Given the description of an element on the screen output the (x, y) to click on. 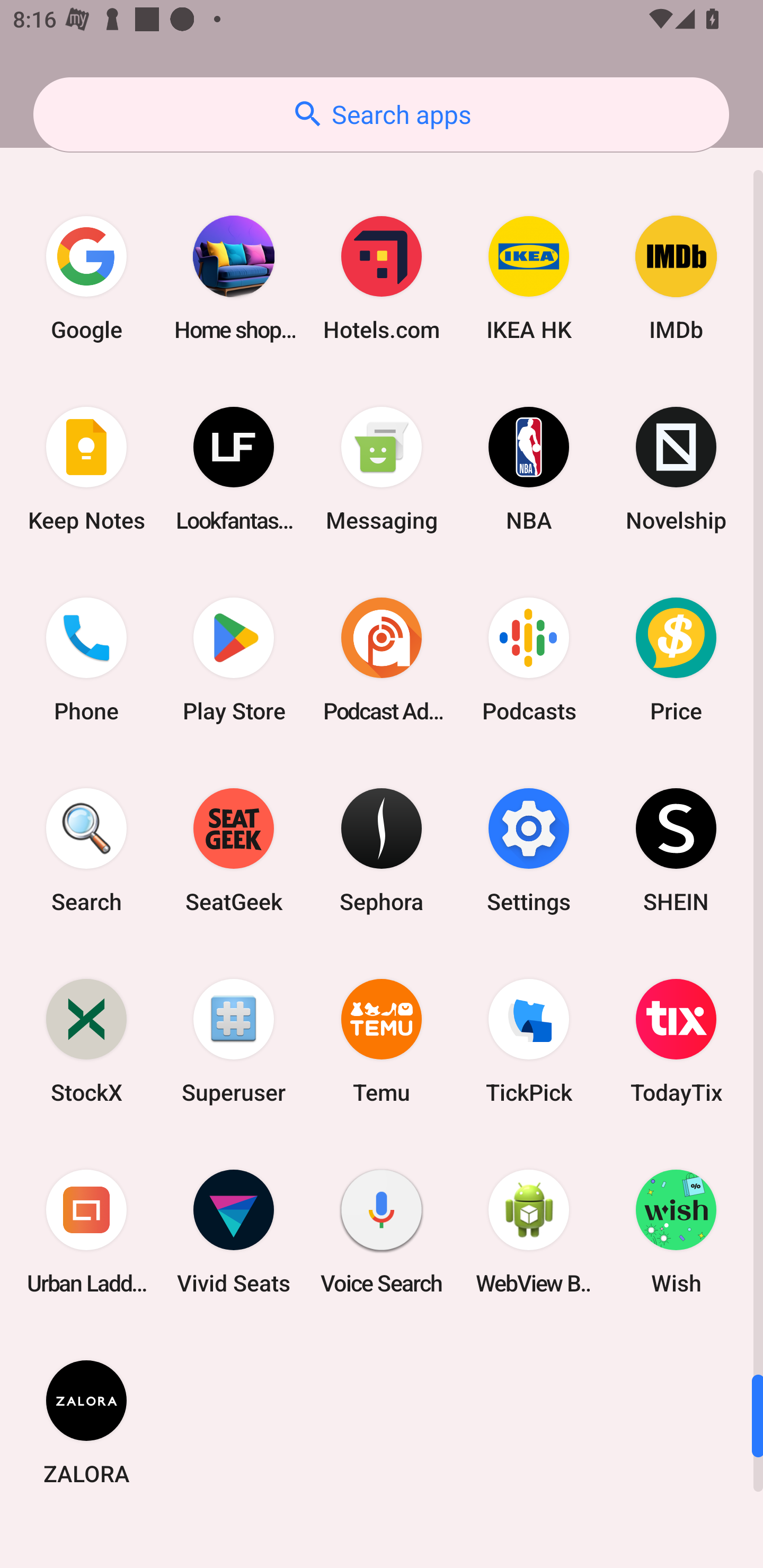
  Search apps (381, 114)
Google (86, 278)
Home shopping (233, 278)
Hotels.com (381, 278)
IKEA HK (528, 278)
IMDb (676, 278)
Keep Notes (86, 468)
Lookfantastic (233, 468)
Messaging (381, 468)
NBA (528, 468)
Novelship (676, 468)
Phone (86, 659)
Play Store (233, 659)
Podcast Addict (381, 659)
Podcasts (528, 659)
Price (676, 659)
Search (86, 849)
SeatGeek (233, 849)
Sephora (381, 849)
Settings (528, 849)
SHEIN (676, 849)
StockX (86, 1040)
Superuser (233, 1040)
Temu (381, 1040)
TickPick (528, 1040)
TodayTix (676, 1040)
Urban Ladder (86, 1231)
Vivid Seats (233, 1231)
Voice Search (381, 1231)
WebView Browser Tester (528, 1231)
Wish (676, 1231)
ZALORA (86, 1421)
